Given the description of an element on the screen output the (x, y) to click on. 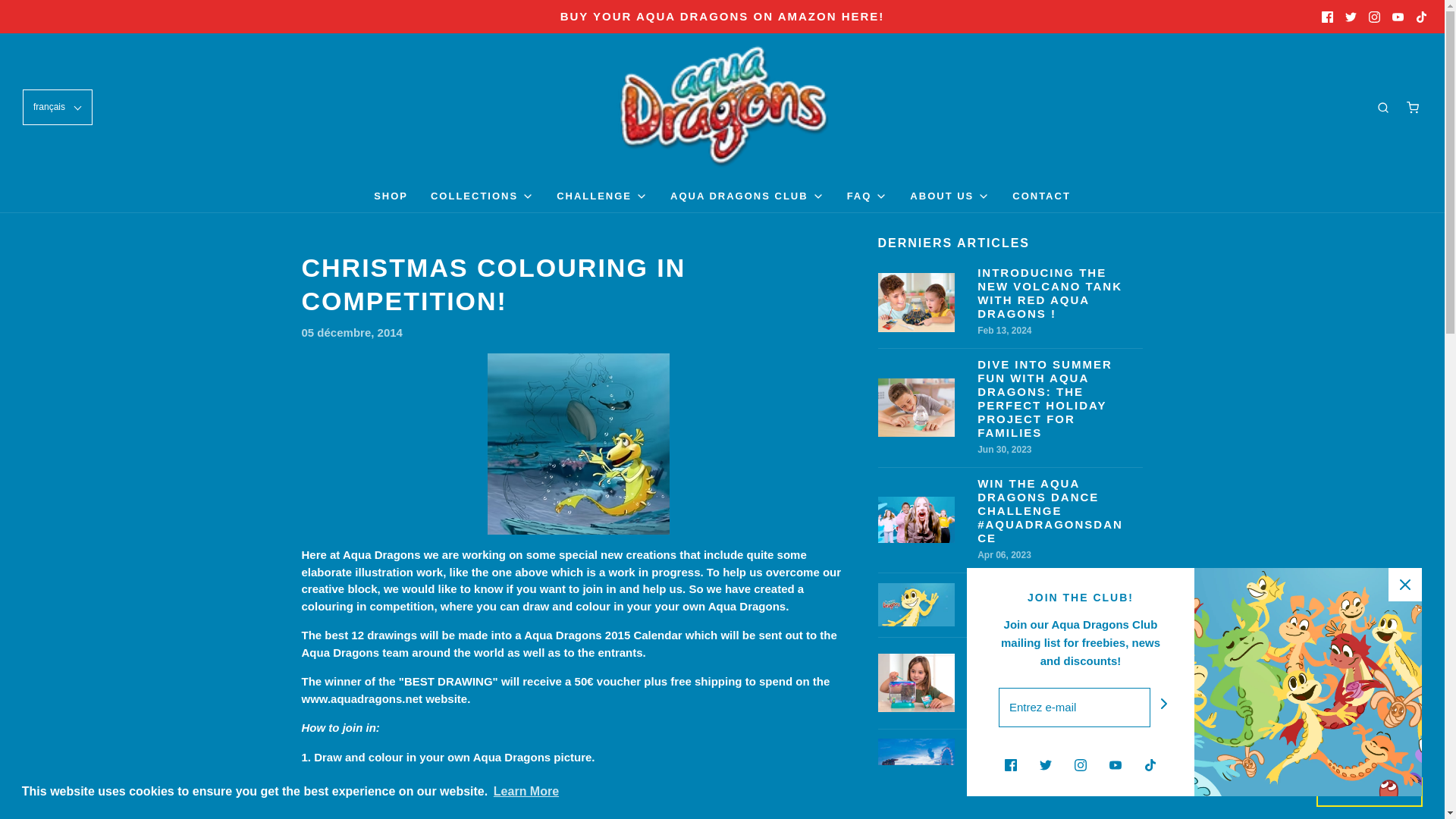
Votre panier (1412, 107)
Search (1423, 7)
Learn More (527, 791)
FACEBOOK ICON (1327, 16)
YOUTUBE ICON (1397, 16)
TIKTOK ICON (1420, 16)
TWITTER ICON (1350, 16)
Got it! (1369, 791)
INSTAGRAM ICON (1374, 16)
TWITTER ICON (1350, 16)
Recherche (1382, 107)
TIKTOK ICON (1420, 16)
INSTAGRAM ICON (1374, 16)
FACEBOOK ICON (1327, 16)
YOUTUBE ICON (1397, 16)
